Given the description of an element on the screen output the (x, y) to click on. 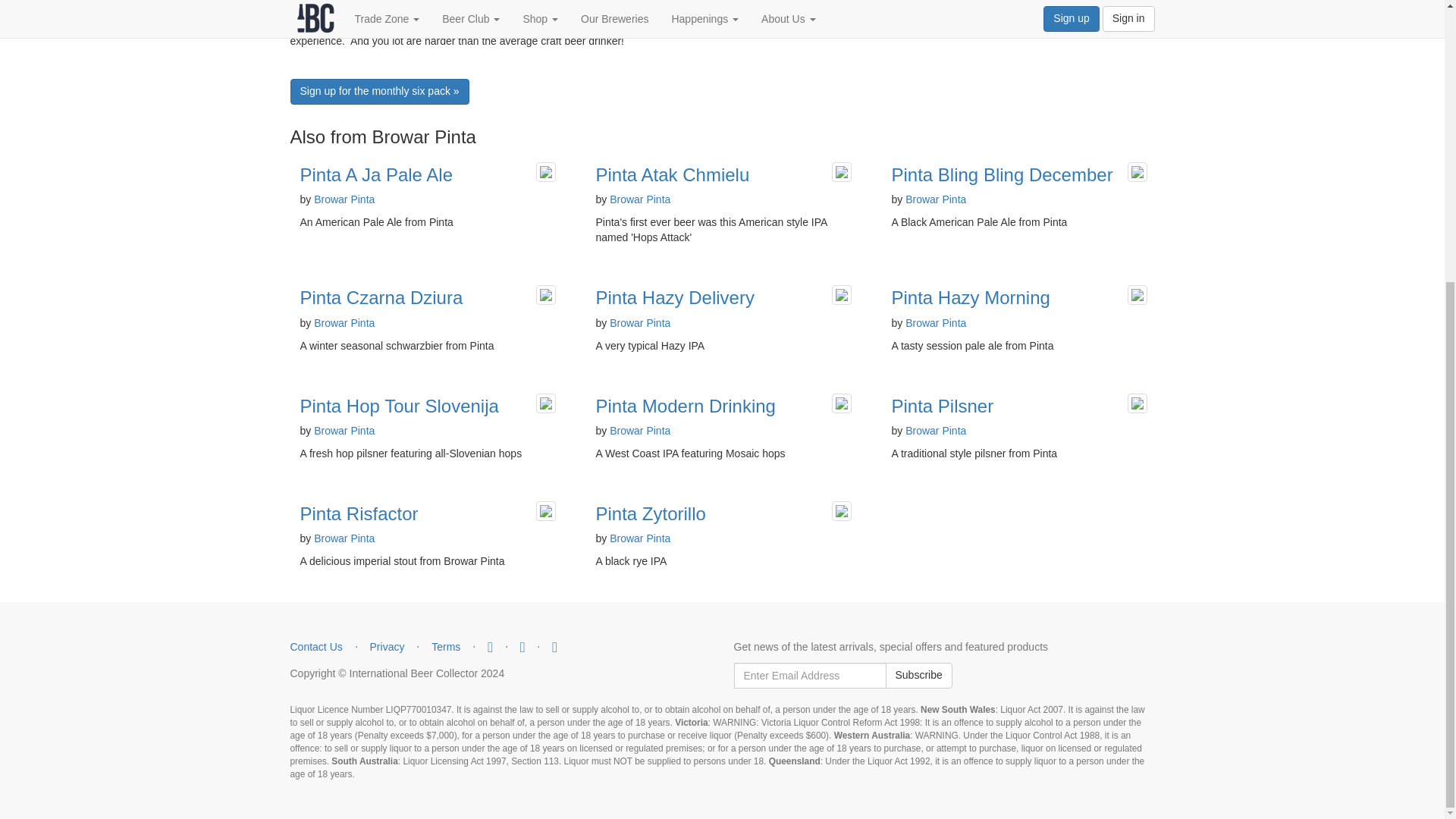
Pinta Atak Chmielu (672, 174)
Pinta A Ja Pale Ale (375, 174)
Browar Pinta (639, 199)
Browar Pinta (344, 199)
